Given the description of an element on the screen output the (x, y) to click on. 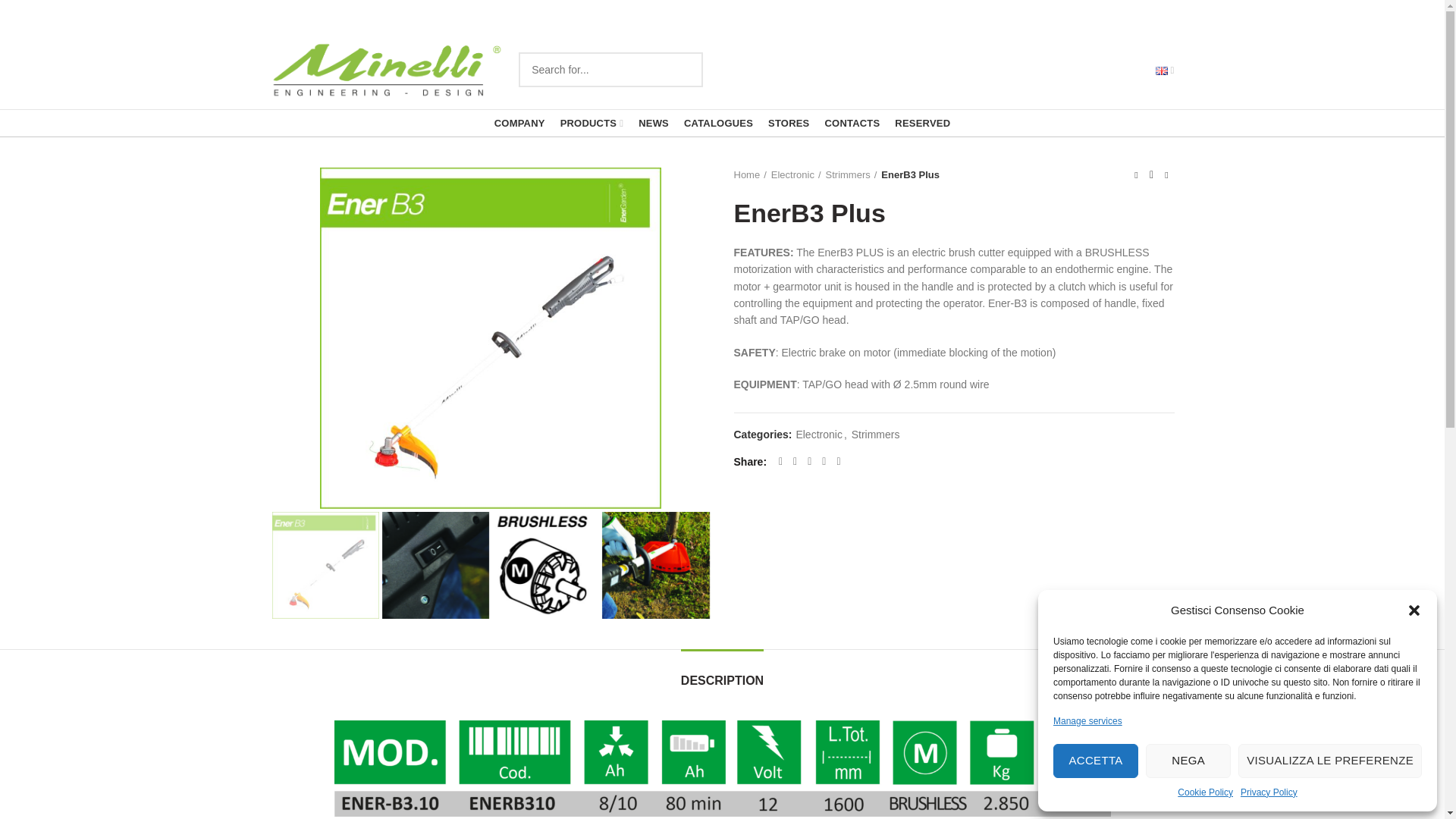
B3 (655, 565)
VISUALIZZA LE PREFERENZE (1330, 760)
ener b3 (490, 337)
ener b3 (324, 565)
COMPANY (519, 122)
Privacy Policy (1268, 792)
NEGA (1187, 760)
B3 (435, 565)
PRODUCTS (592, 122)
Manage services (1087, 721)
